Given the description of an element on the screen output the (x, y) to click on. 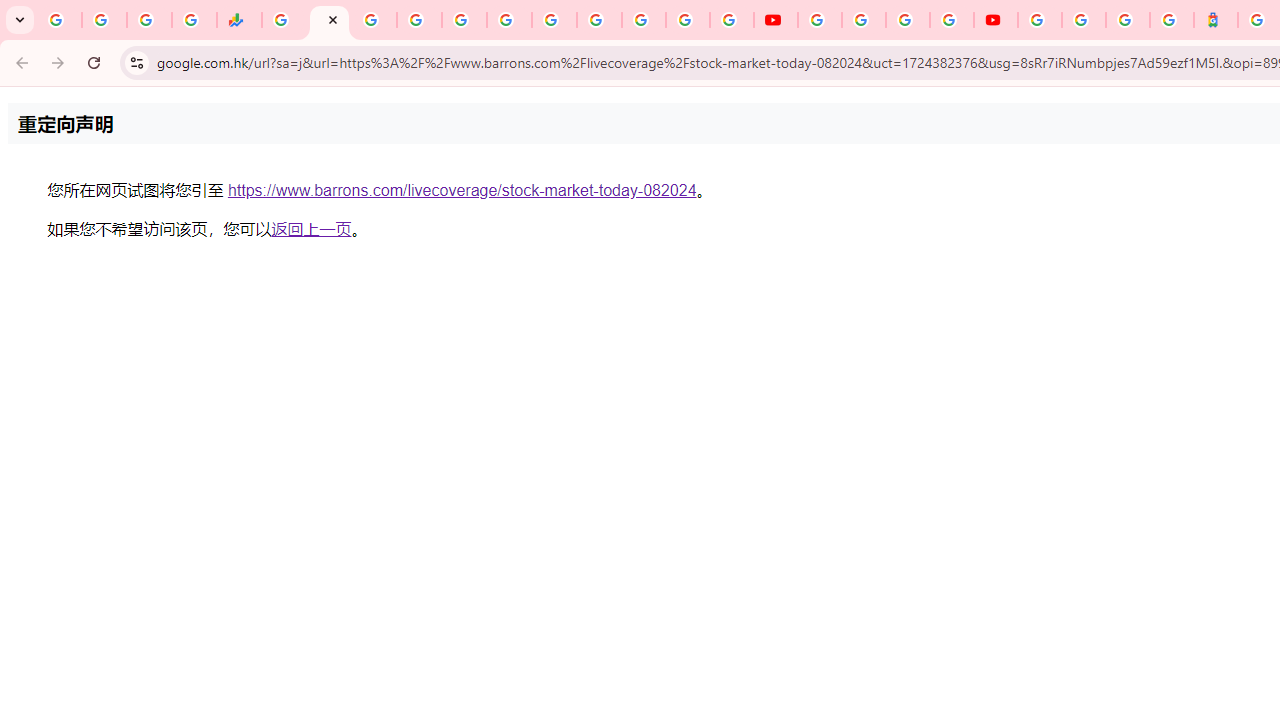
Google Account Help (863, 20)
Sign in - Google Accounts (1039, 20)
